Given the description of an element on the screen output the (x, y) to click on. 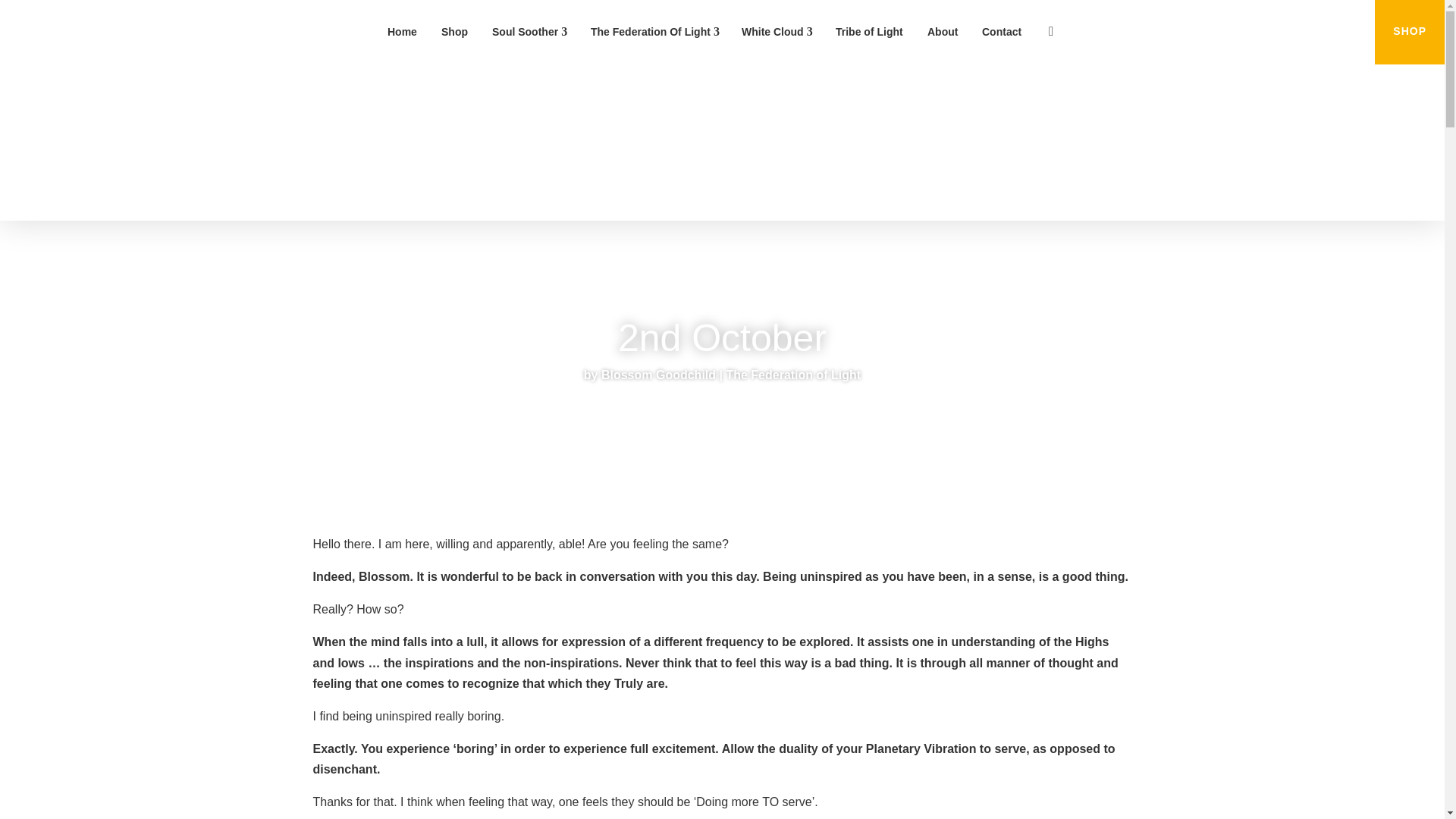
Soul Soother (529, 31)
White Cloud (776, 31)
The Federation Of Light (654, 31)
Posts by Blossom Goodchild (658, 374)
